Given the description of an element on the screen output the (x, y) to click on. 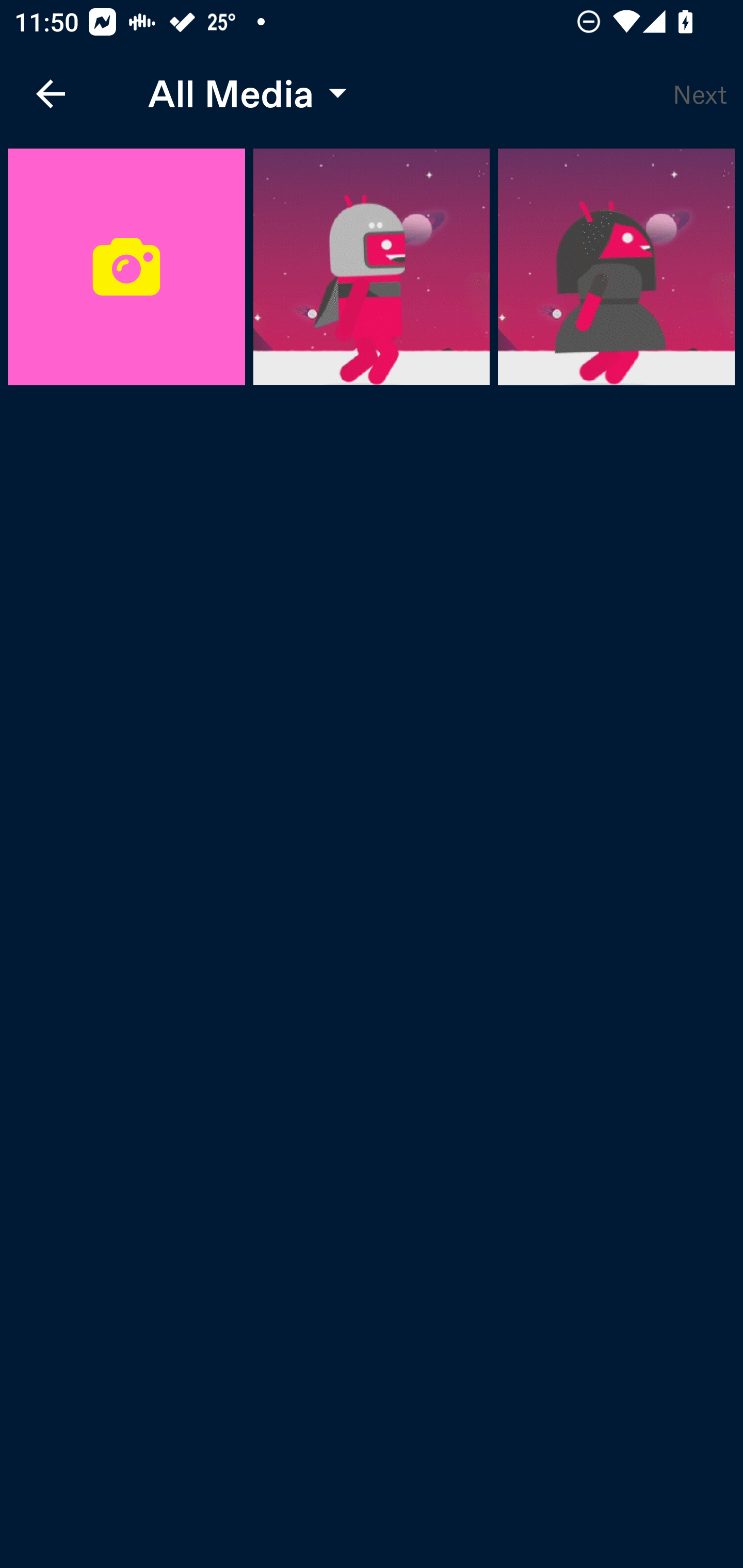
Navigate up (50, 93)
All Media (242, 93)
Next (699, 93)
Gallery Media Item image1 of 3 (371, 266)
Gallery Media Item image2 of 3 (615, 266)
